Given the description of an element on the screen output the (x, y) to click on. 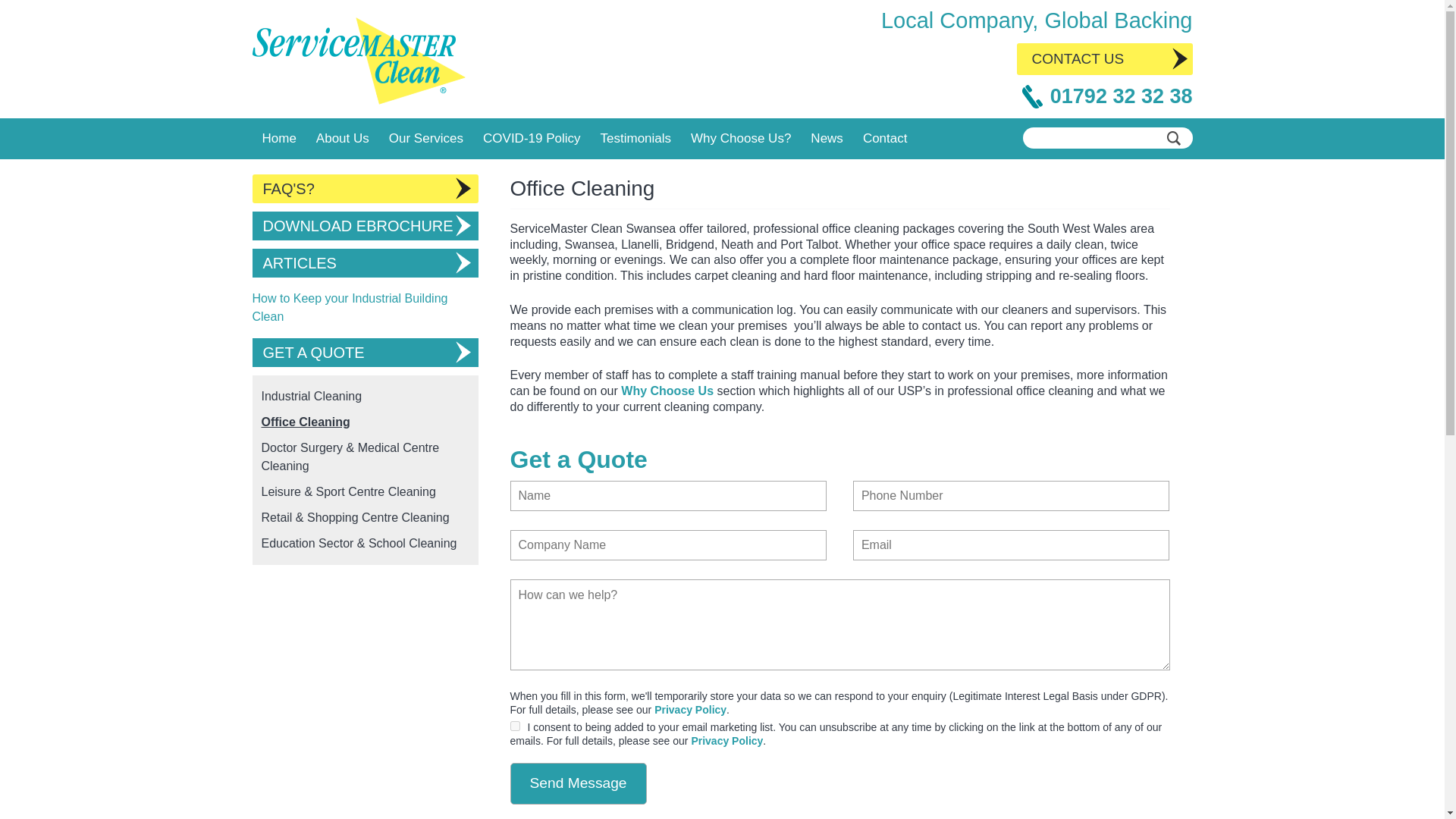
News (826, 137)
Send Message (577, 783)
Why Choose Us? (740, 137)
Privacy Policy (689, 709)
Contact (885, 137)
Things to consider when choosing a commercial cleaner (667, 390)
Home (278, 137)
Testimonials (636, 137)
COVID-19 Policy (531, 137)
GET A QUOTE (364, 352)
01792 32 32 38 (1120, 96)
ARTICLES (364, 262)
I consent (514, 726)
Our Services (425, 137)
Office Cleaning (304, 421)
